Given the description of an element on the screen output the (x, y) to click on. 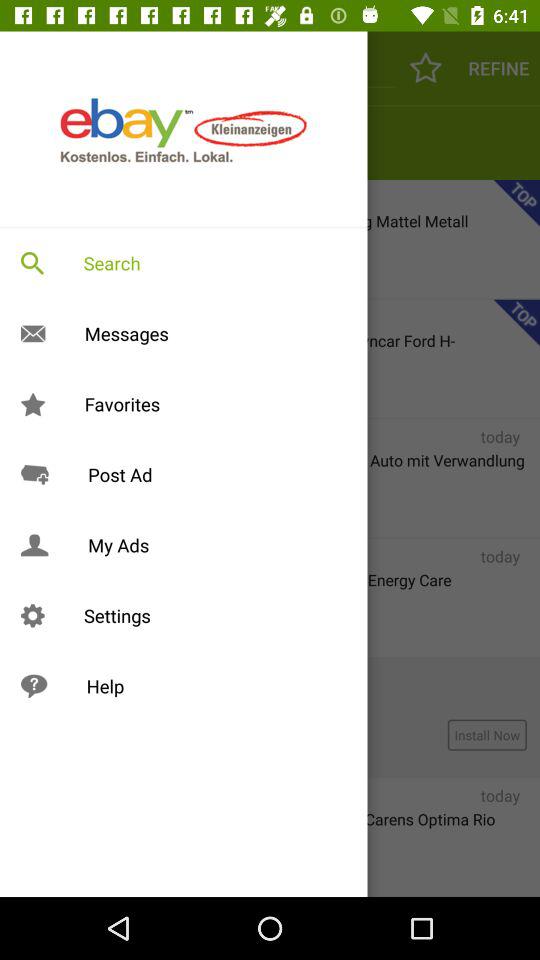
select install now which is at the right side of the page (487, 735)
